Given the description of an element on the screen output the (x, y) to click on. 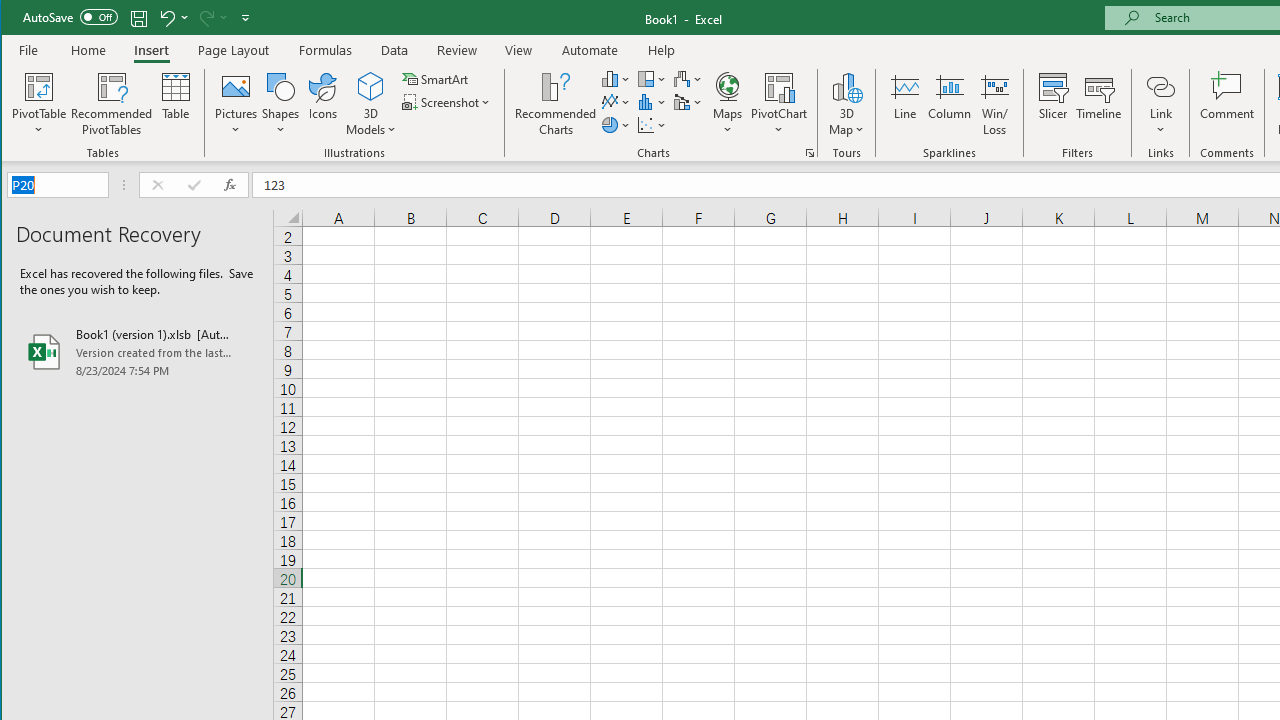
Icons (323, 104)
Comment (1227, 104)
Line (904, 104)
Insert Pie or Doughnut Chart (616, 124)
Screenshot (447, 101)
Shapes (280, 104)
Link (1160, 104)
PivotTable (39, 86)
3D Map (846, 104)
